Given the description of an element on the screen output the (x, y) to click on. 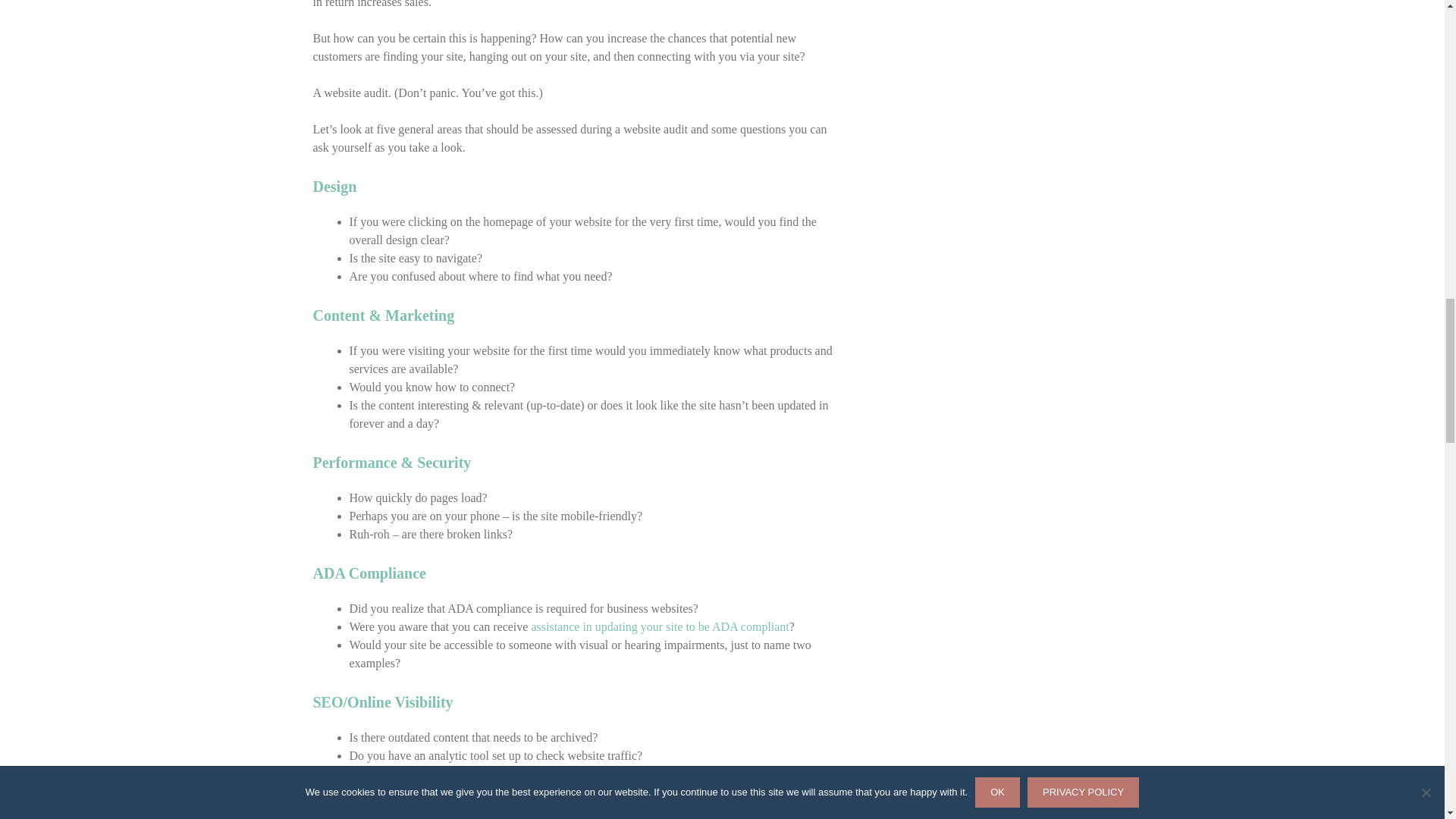
assistance in updating your site to be ADA compliant (660, 626)
